Given the description of an element on the screen output the (x, y) to click on. 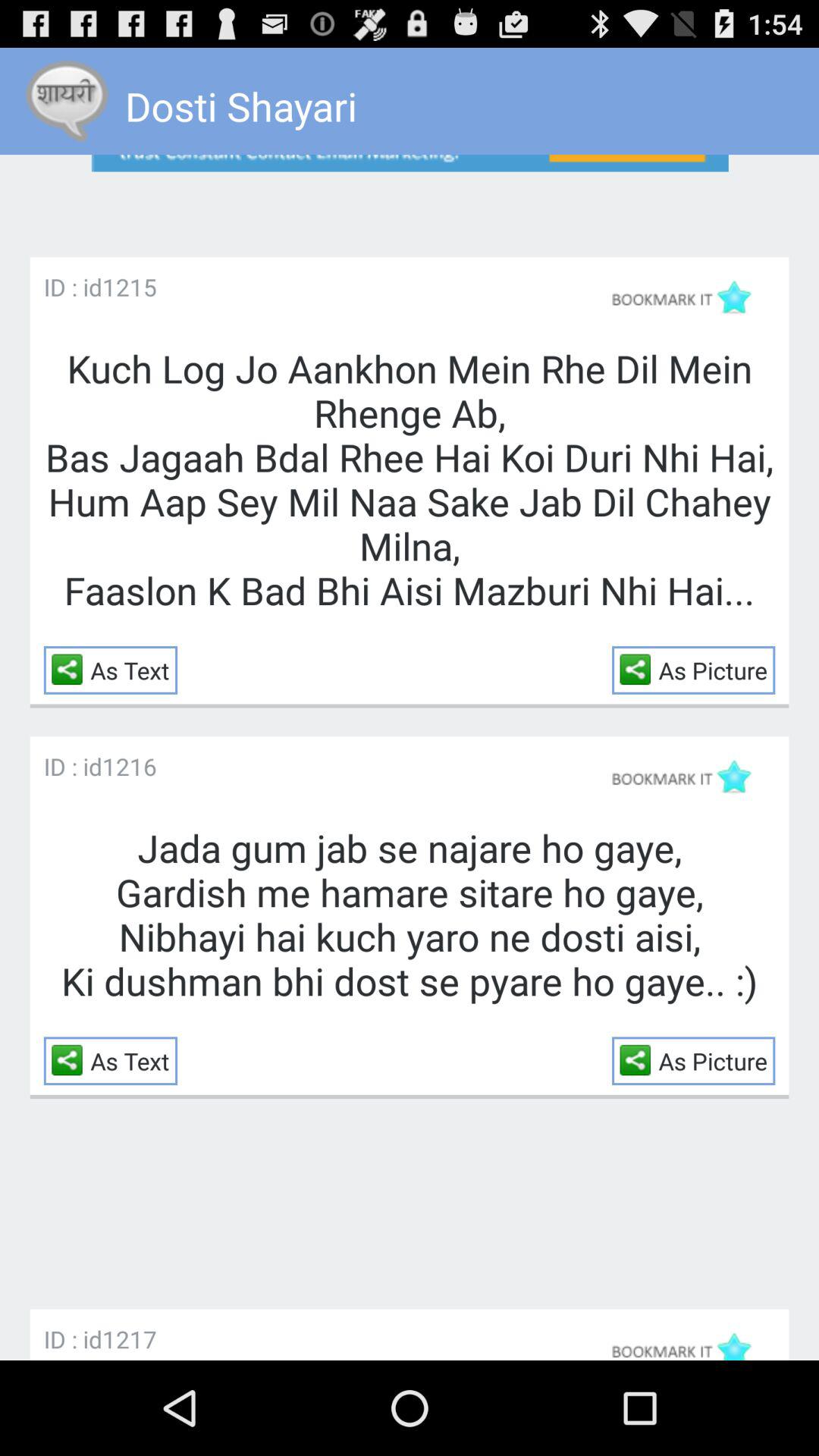
bookmark this (688, 1341)
